Given the description of an element on the screen output the (x, y) to click on. 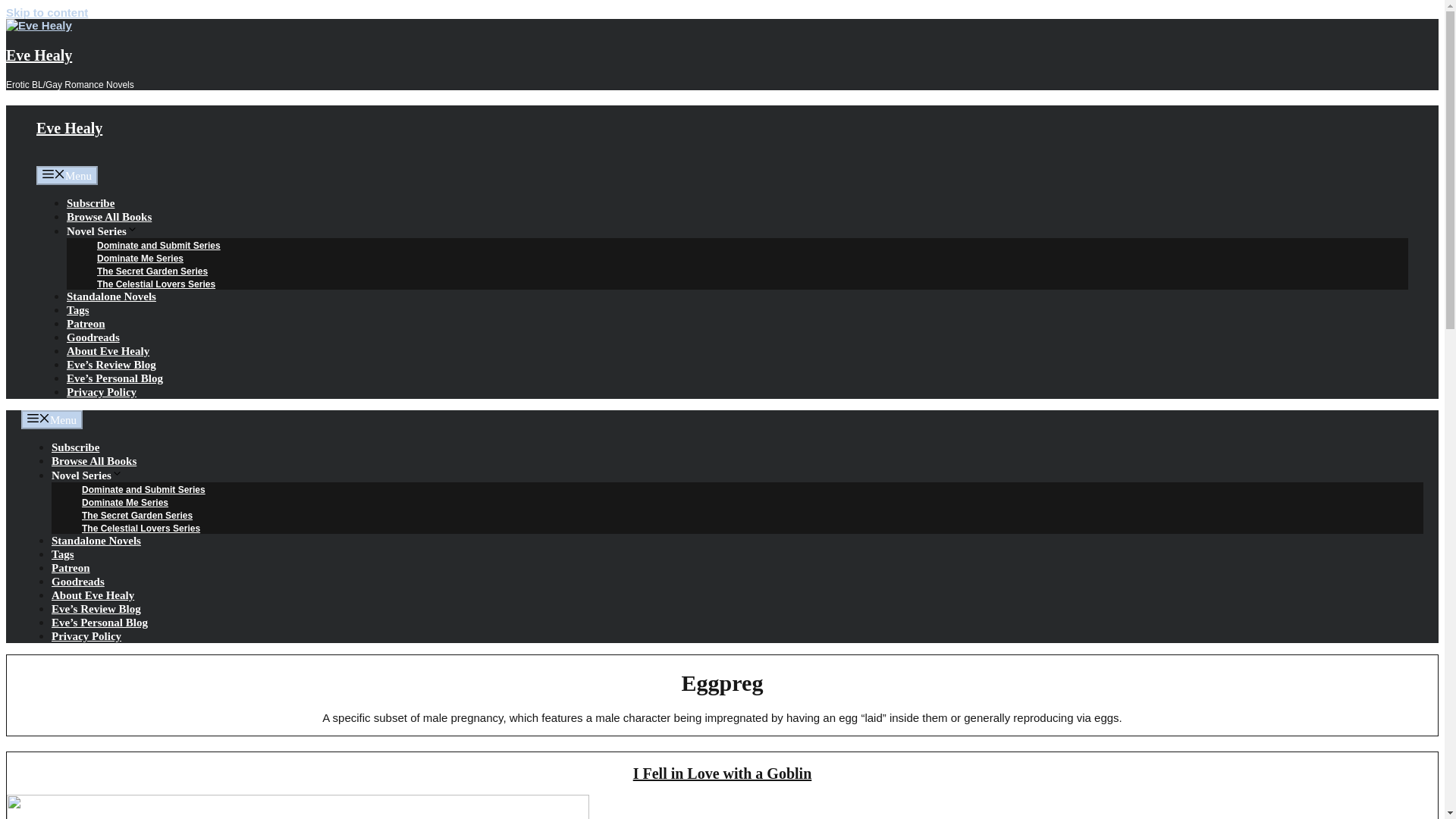
Privacy Policy (101, 391)
Novel Series (86, 475)
Dominate Me Series (140, 258)
Patreon (70, 567)
Browse All Books (108, 216)
Goodreads (77, 581)
Patreon (85, 323)
The Celestial Lovers Series (140, 528)
Dominate and Submit Series (159, 245)
Standalone Novels (110, 296)
Browse All Books (93, 460)
Dominate and Submit Series (143, 489)
Dominate Me Series (124, 502)
I Fell in Love with a Goblin (722, 773)
Tags (62, 553)
